Given the description of an element on the screen output the (x, y) to click on. 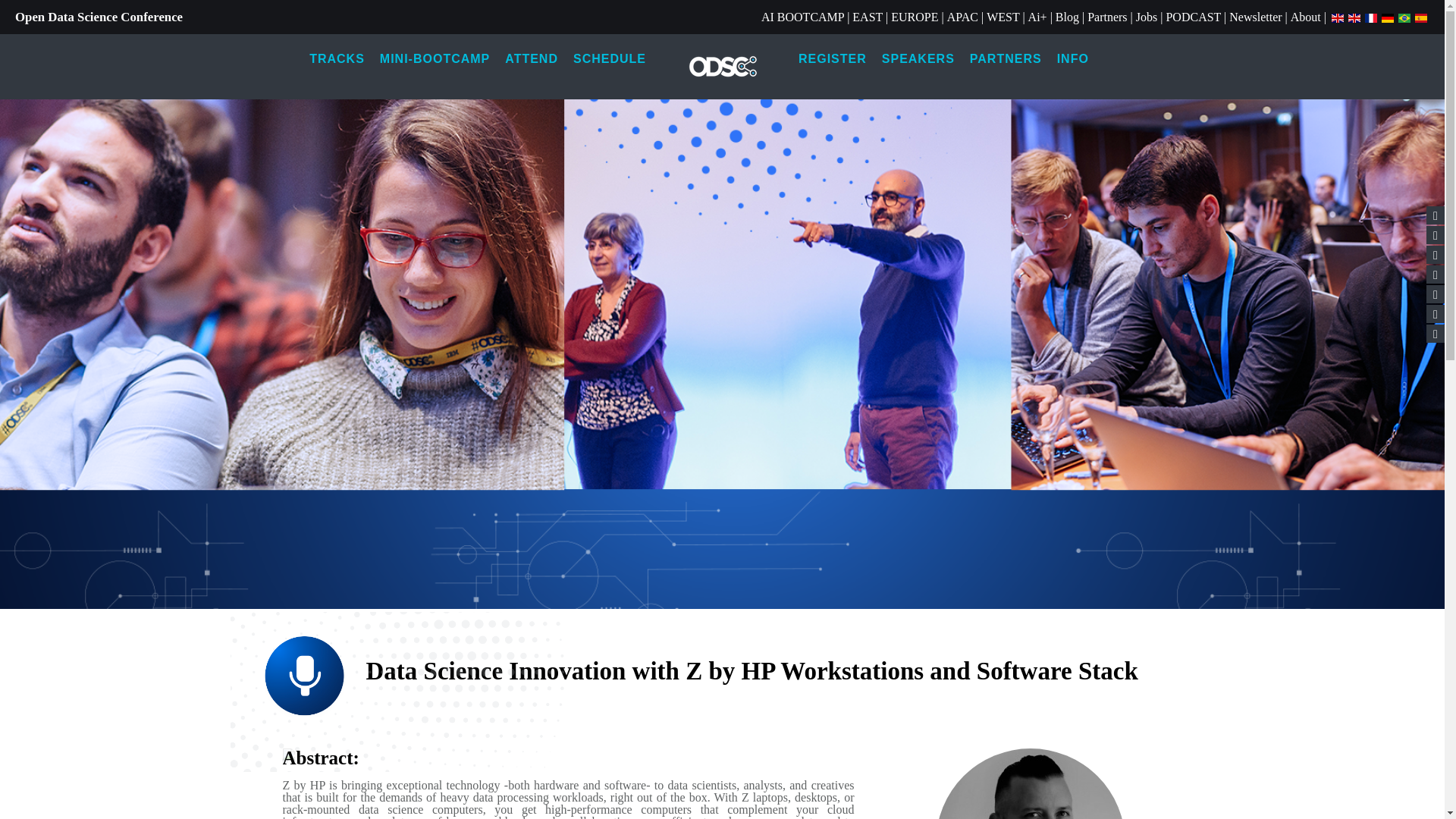
Jobs (1146, 16)
Blog (1066, 16)
German (1387, 16)
EAST (866, 16)
Partners (1106, 16)
MINI-BOOTCAMP (434, 59)
Blog (1066, 16)
AI BOOTCAMP (802, 16)
APAC (962, 16)
APAC (962, 16)
Portuguese (1404, 16)
PODCAST (1193, 16)
Newsletter (1254, 16)
Newsletter (1254, 16)
WEST (1003, 16)
